Given the description of an element on the screen output the (x, y) to click on. 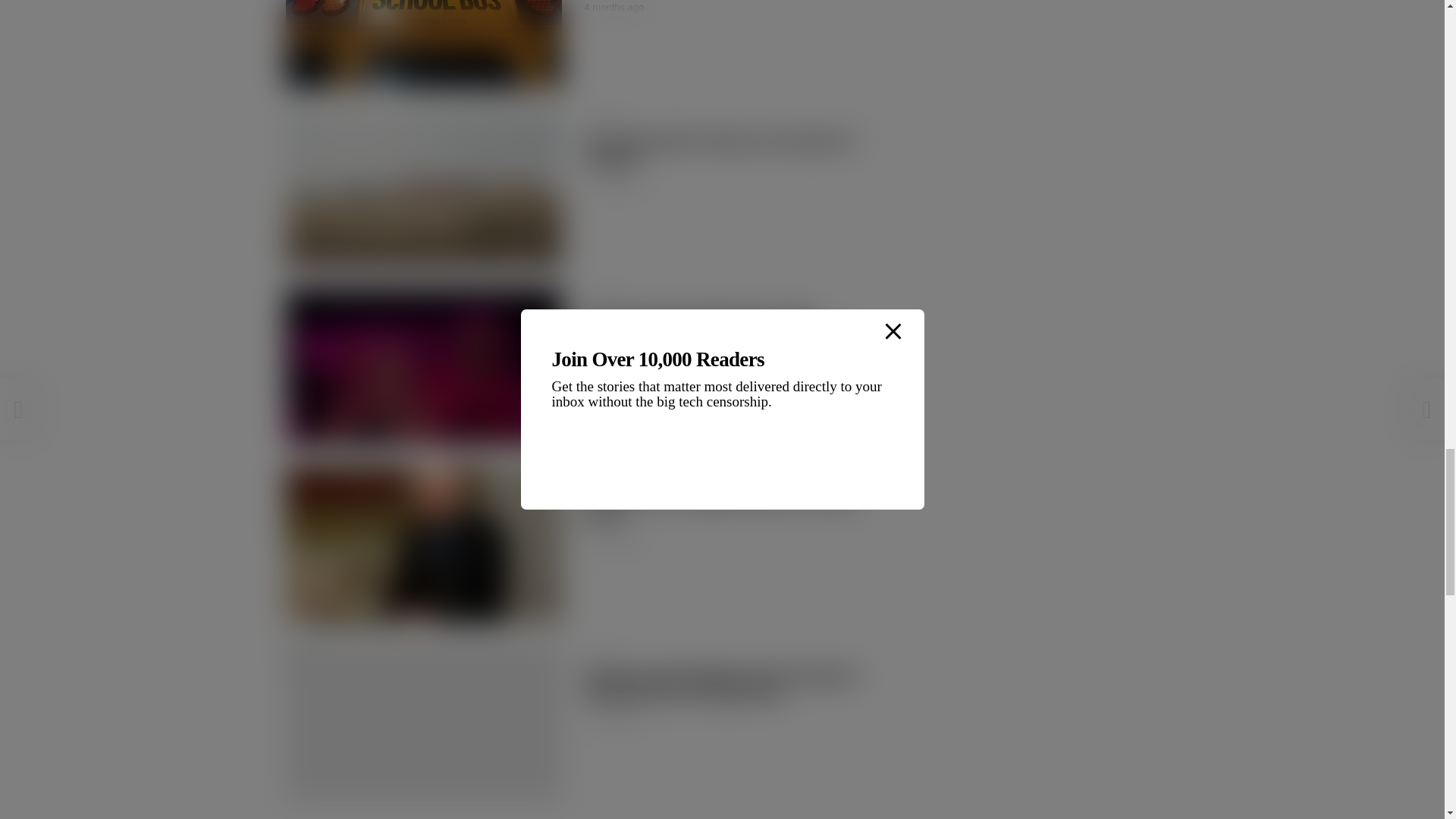
March 11, 2024, 11:54 am (613, 363)
March 11, 2024, 5:22 pm (613, 7)
Beloved Actor Malachy McCourt Dead At 92 (422, 544)
Five Dead After Private Jet Crashes In Virginia (719, 149)
Five Dead After Private Jet Crashes In Virginia (422, 188)
Beloved Actor Malachy McCourt Dead At 92 (720, 506)
March 11, 2024, 1:06 pm (613, 185)
Four Injured After Boston School Bus Slams Into House (422, 43)
